Given the description of an element on the screen output the (x, y) to click on. 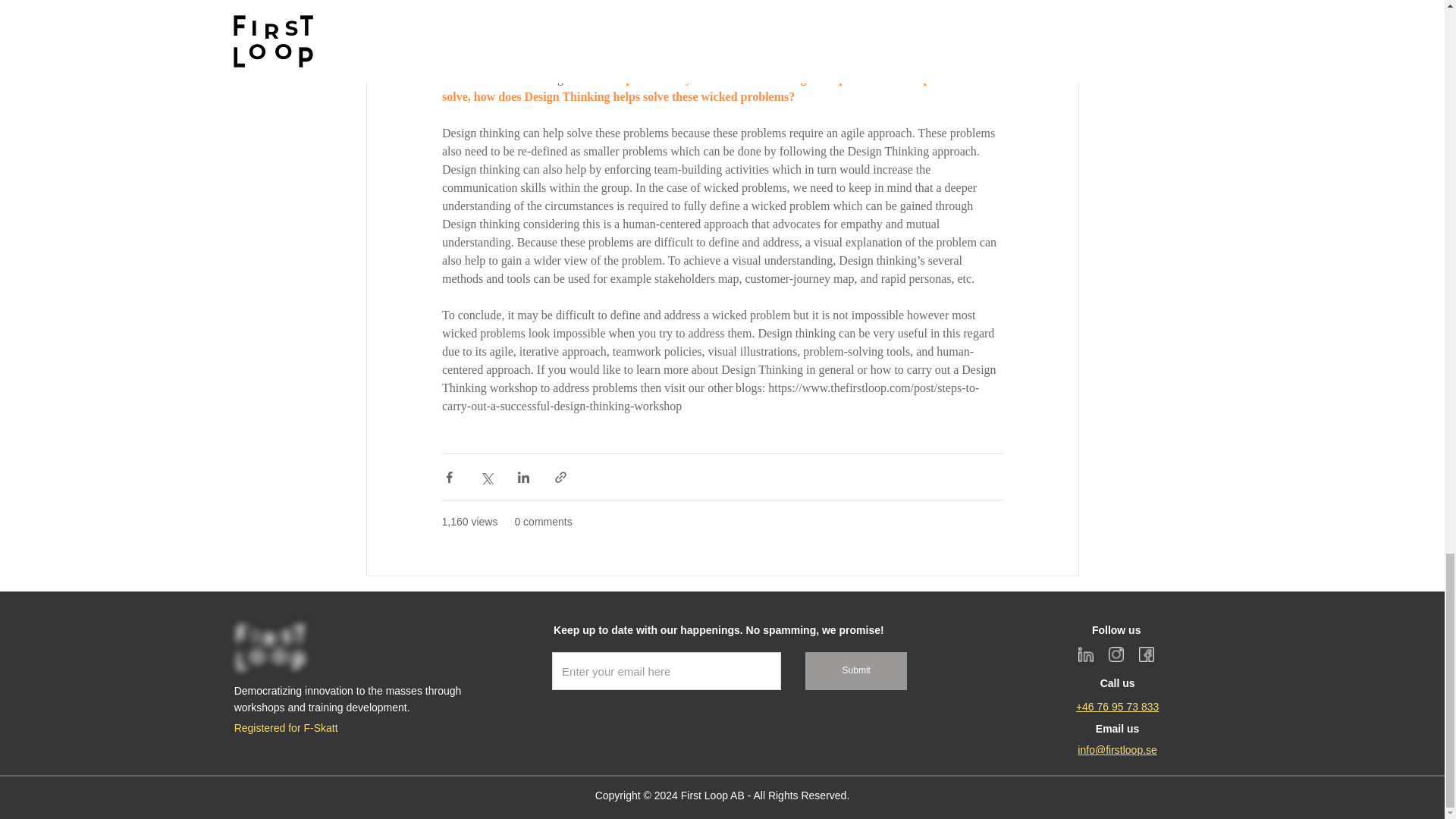
Submit (856, 670)
